Given the description of an element on the screen output the (x, y) to click on. 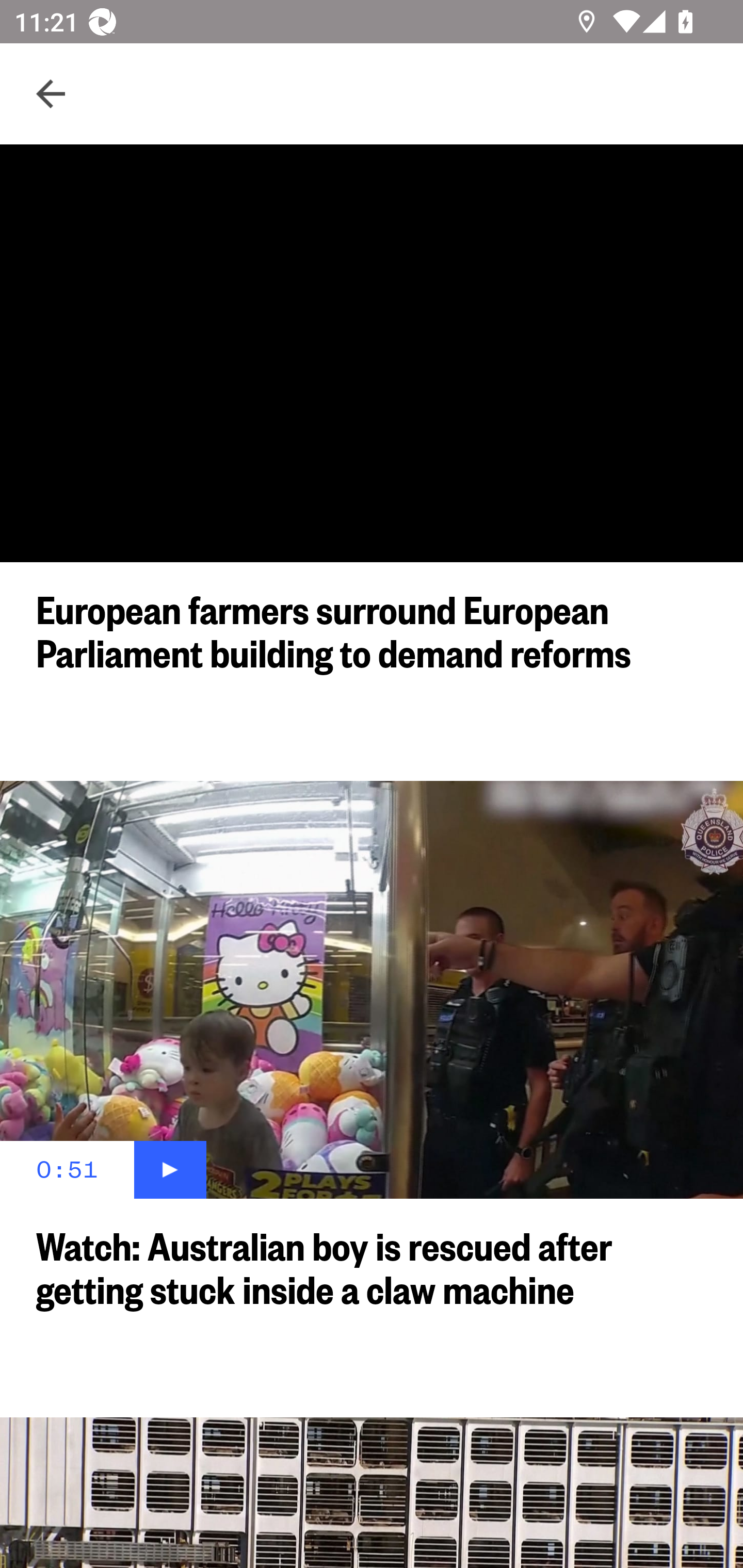
Navigate up (50, 93)
